Given the description of an element on the screen output the (x, y) to click on. 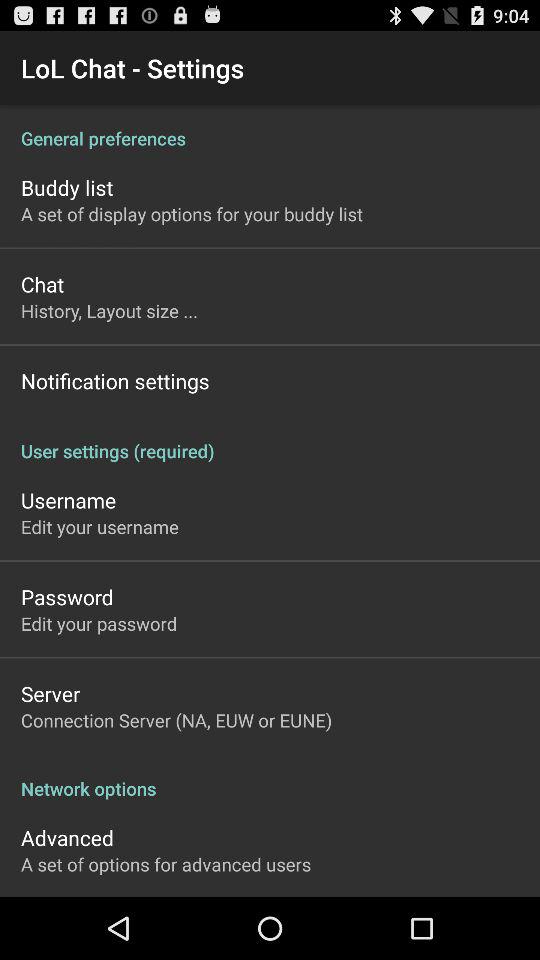
flip until general preferences icon (270, 127)
